Given the description of an element on the screen output the (x, y) to click on. 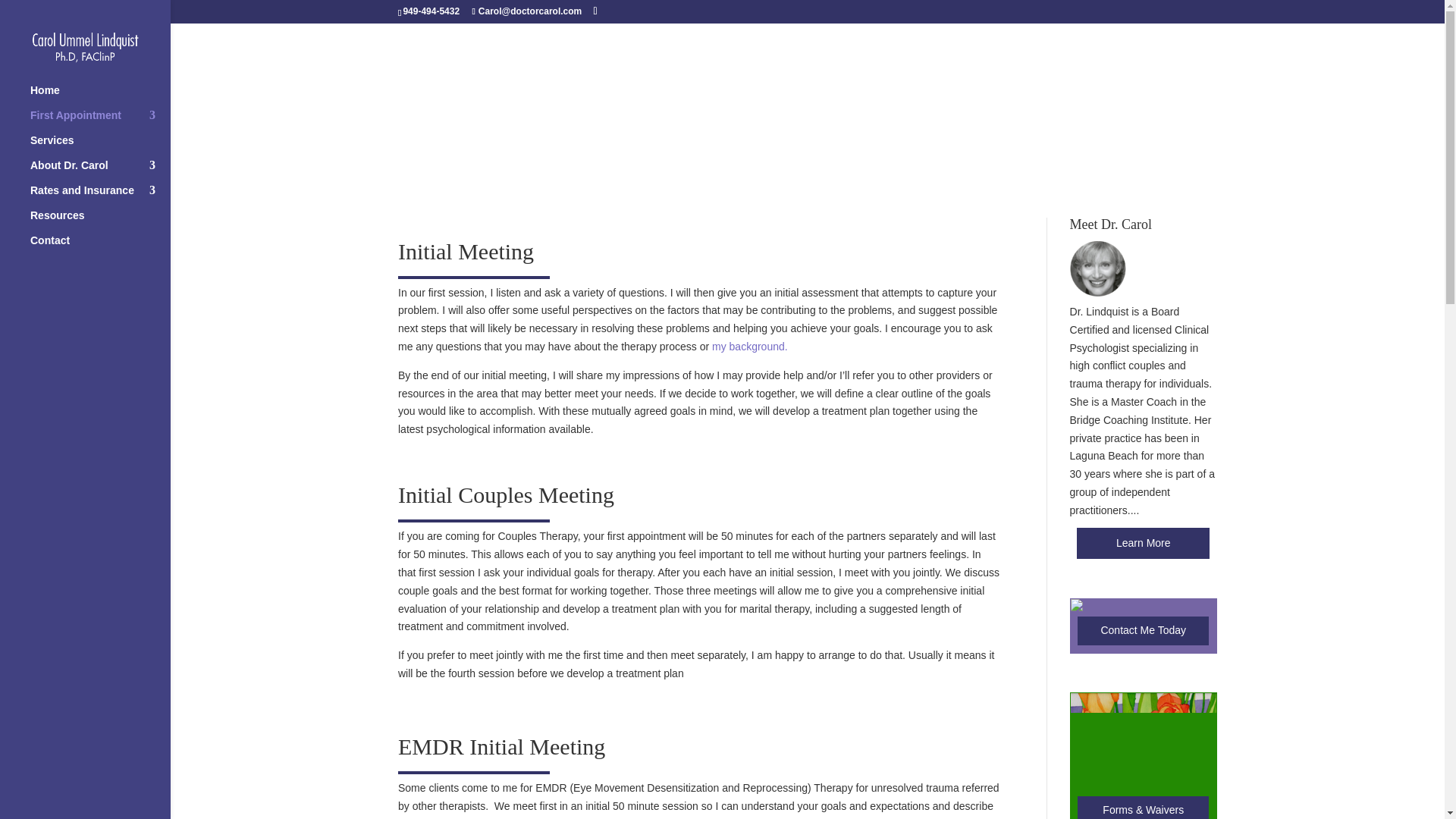
Learn More (1143, 543)
Rates and Insurance (100, 197)
Contact Me Today (1142, 630)
About Dr. Carol (100, 172)
First Appointment (100, 122)
Services (100, 147)
Home (100, 97)
my background. (749, 346)
Contact (100, 247)
Resources (100, 222)
